Given the description of an element on the screen output the (x, y) to click on. 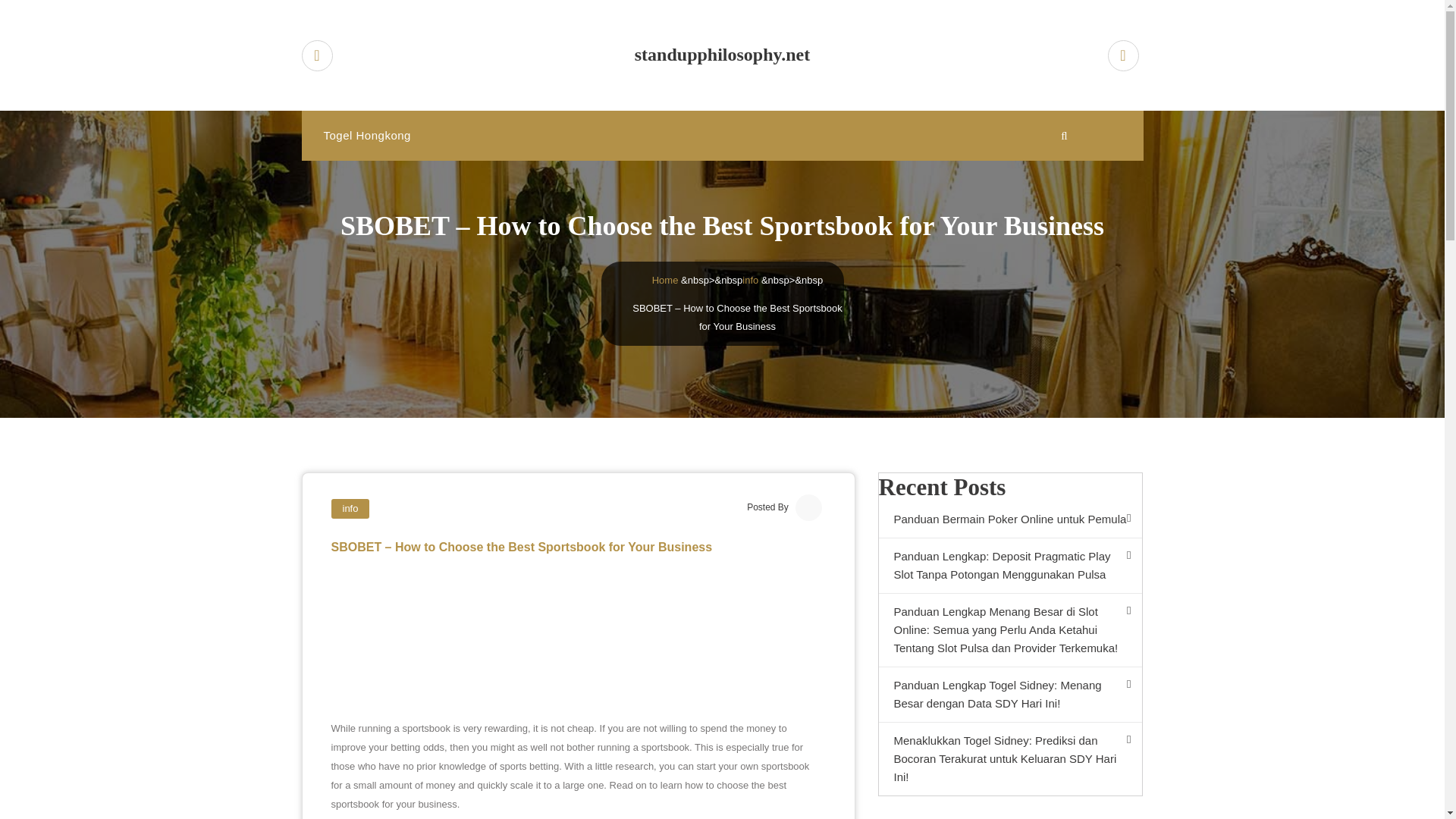
standupphilosophy.net (722, 54)
Home (665, 279)
Togel Hongkong (366, 135)
info (750, 279)
info (349, 508)
Panduan Bermain Poker Online untuk Pemula (1009, 519)
